Given the description of an element on the screen output the (x, y) to click on. 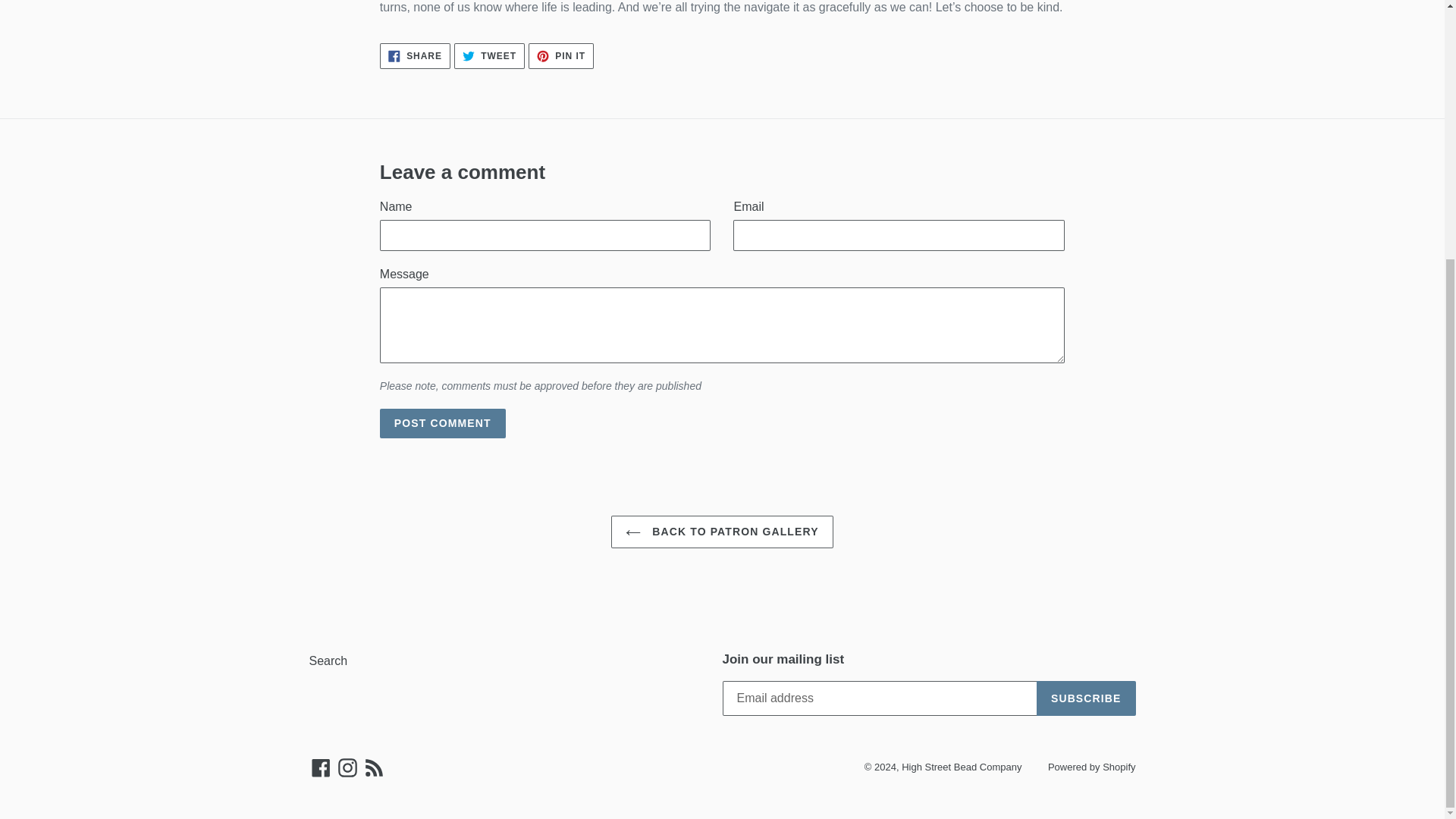
Post comment (442, 423)
BACK TO PATRON GALLERY (721, 531)
Search (327, 660)
Edited (414, 55)
Post comment (721, 6)
SUBSCRIBE (489, 55)
